Given the description of an element on the screen output the (x, y) to click on. 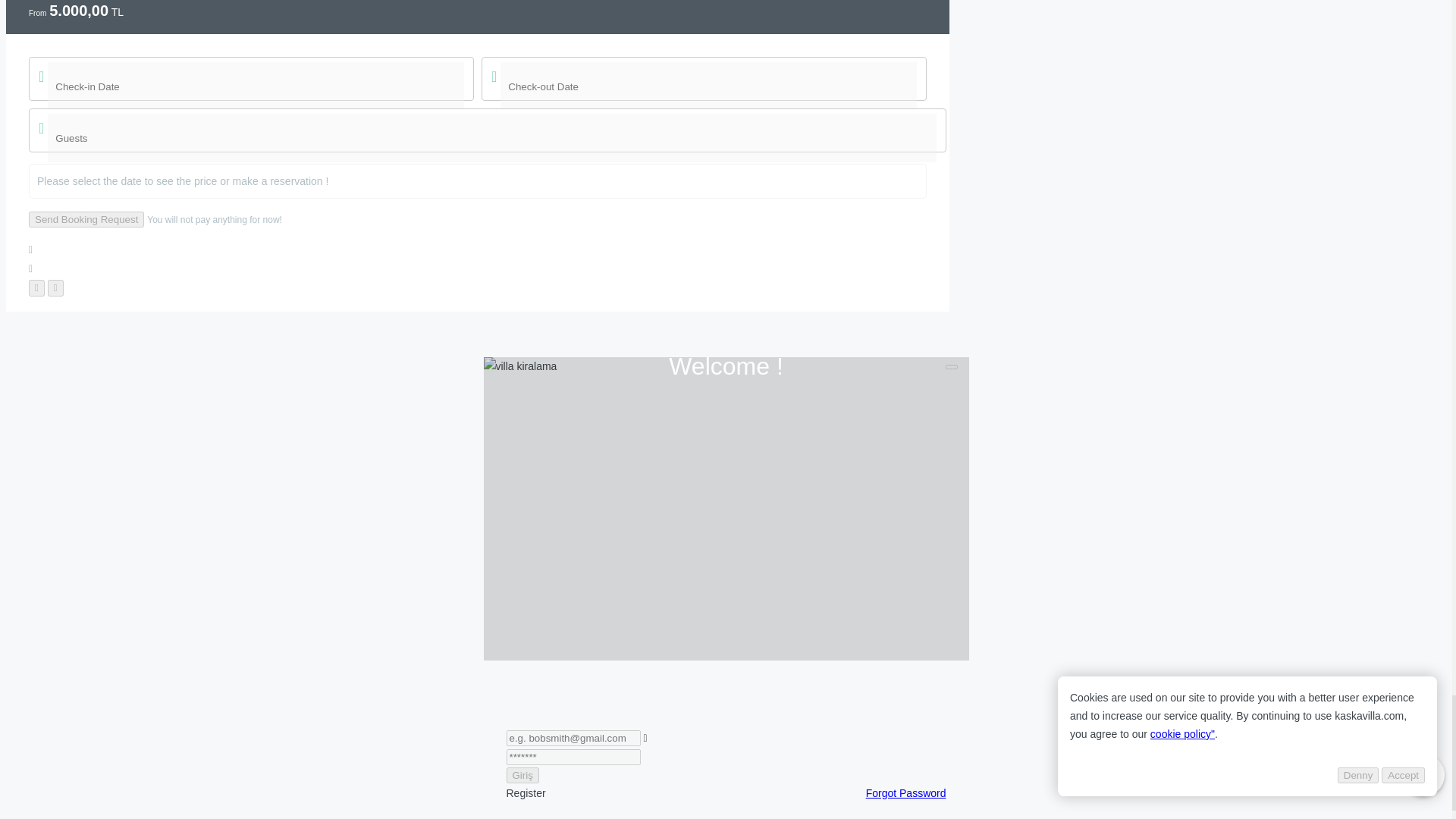
Send Booking Request (86, 219)
Add to Comparison List  (477, 268)
Like this villa (477, 249)
